Given the description of an element on the screen output the (x, y) to click on. 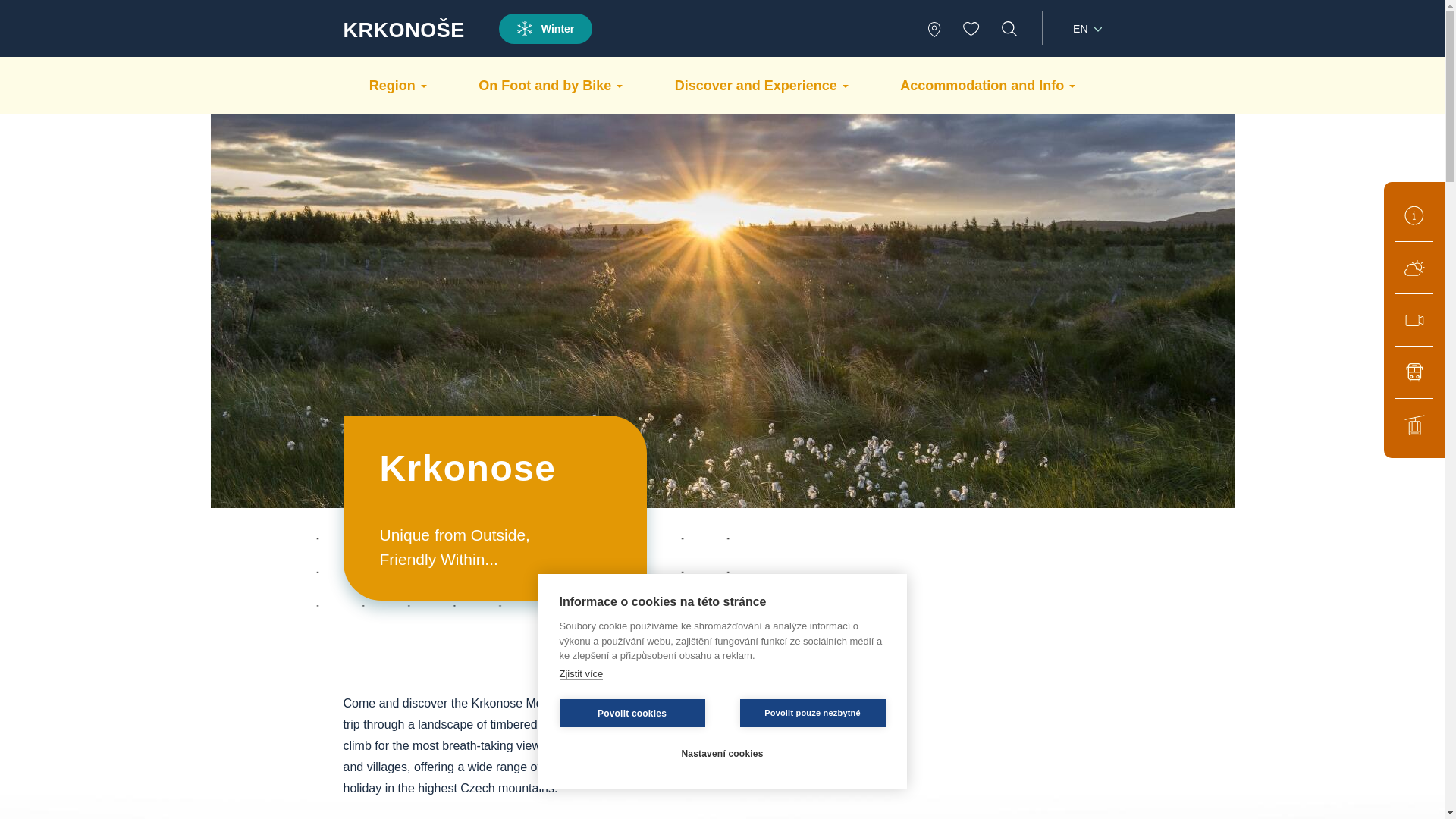
Winter (545, 28)
Search (1009, 28)
